Given the description of an element on the screen output the (x, y) to click on. 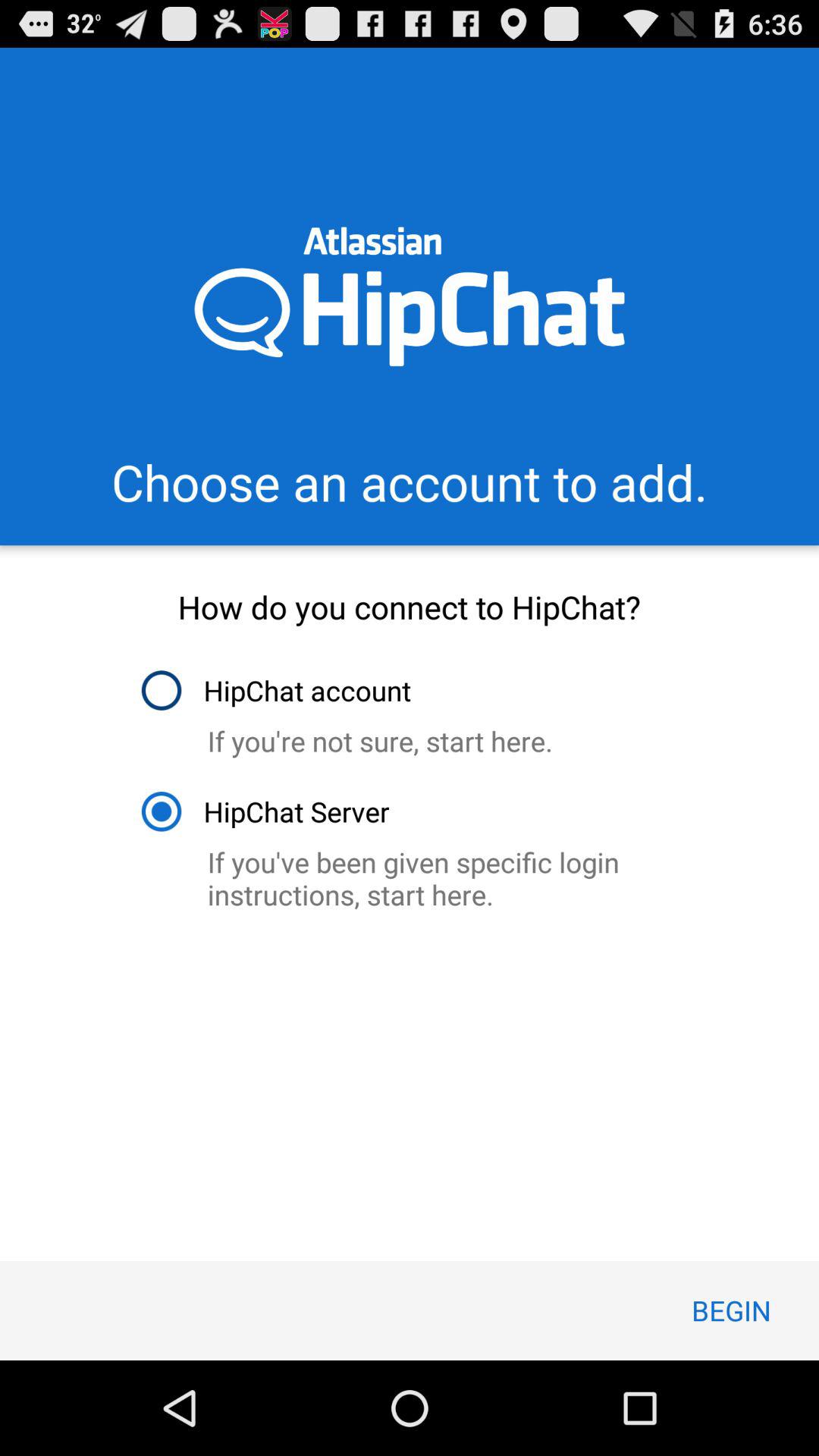
turn off the begin icon (731, 1310)
